Given the description of an element on the screen output the (x, y) to click on. 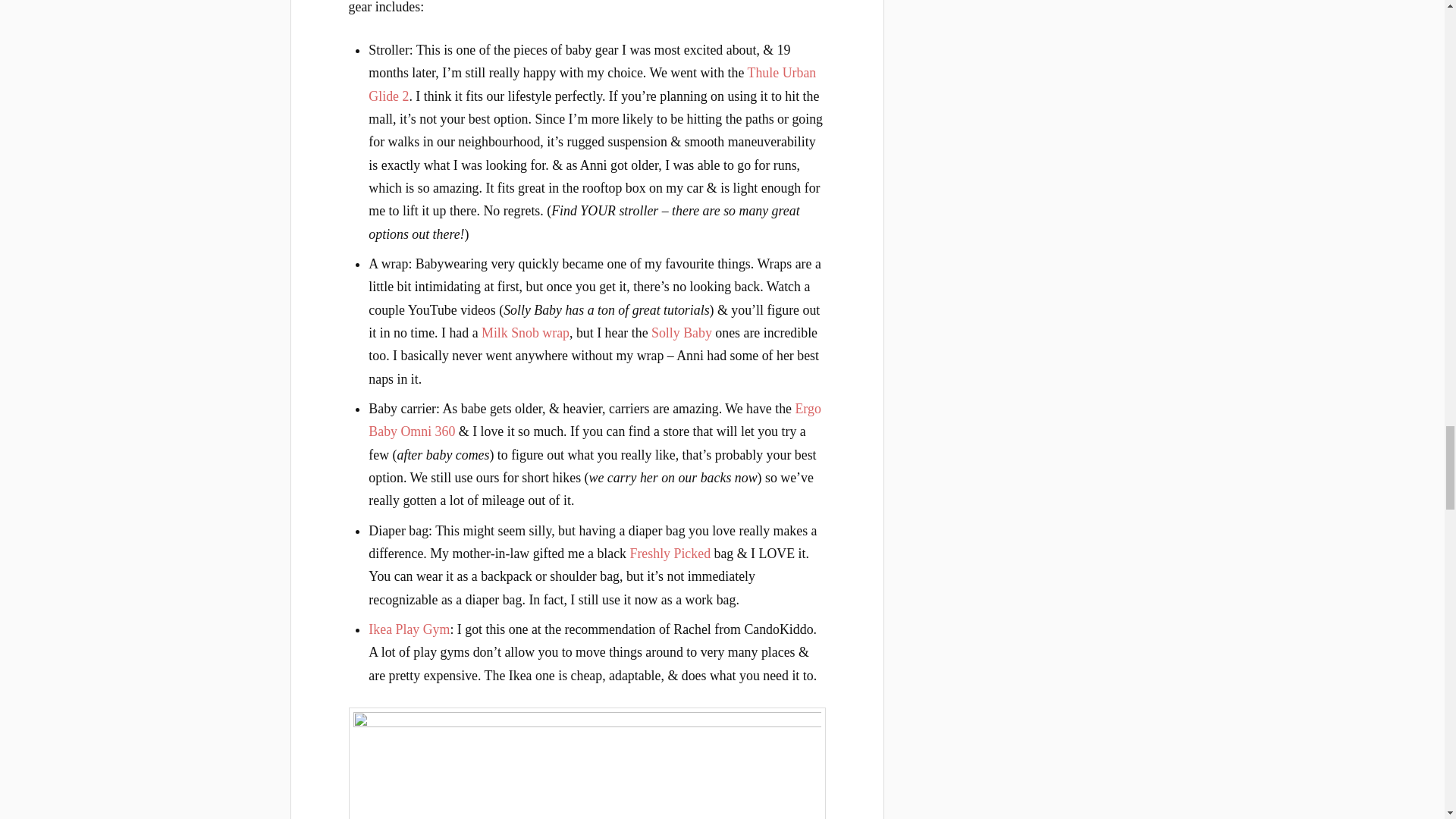
Milk Snob wrap (525, 332)
Thule Urban Glide 2 (591, 84)
